Given the description of an element on the screen output the (x, y) to click on. 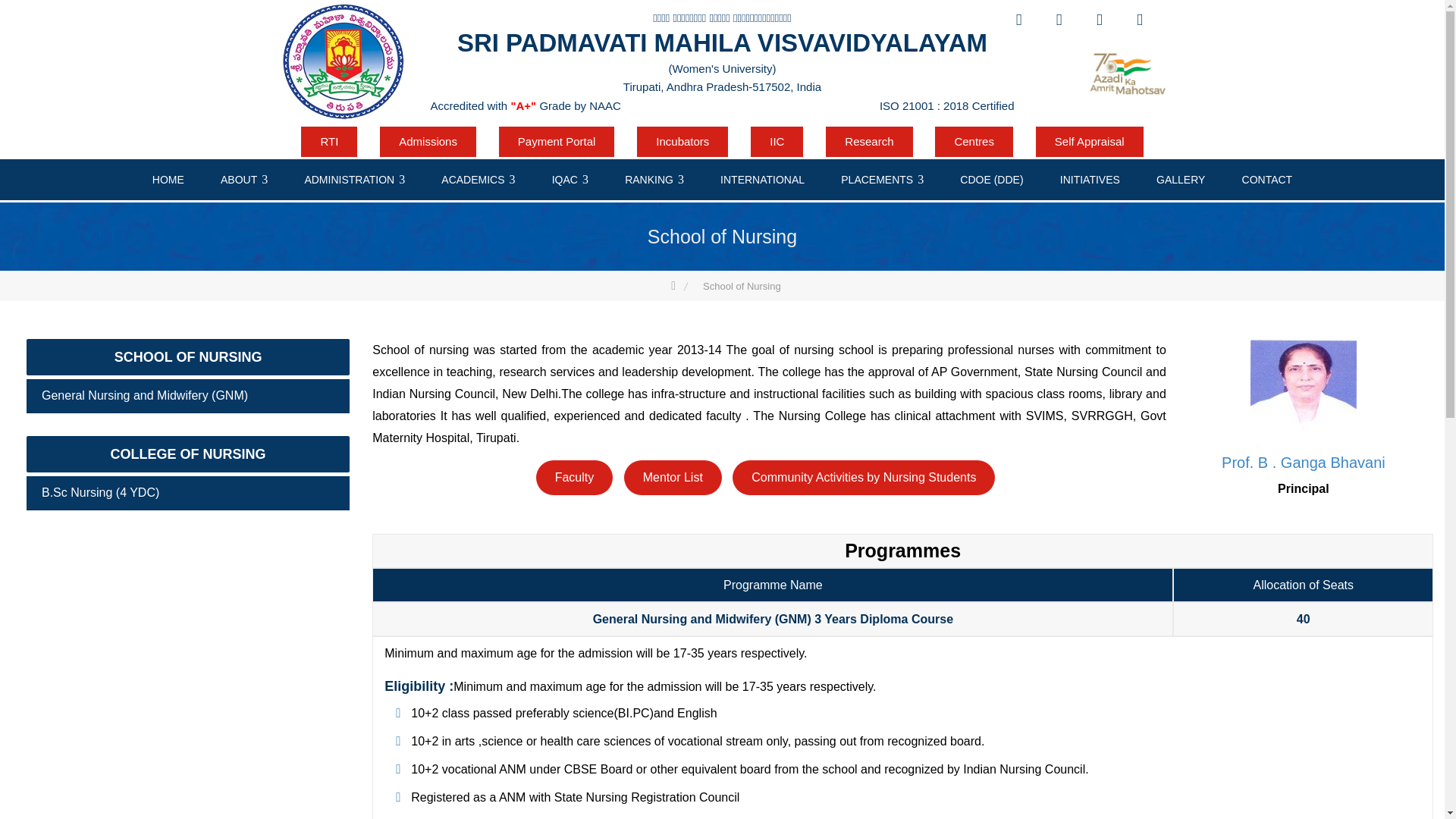
Instagram (1139, 19)
Facebook (1018, 19)
Twitter (1058, 19)
Youtube (1098, 19)
